Given the description of an element on the screen output the (x, y) to click on. 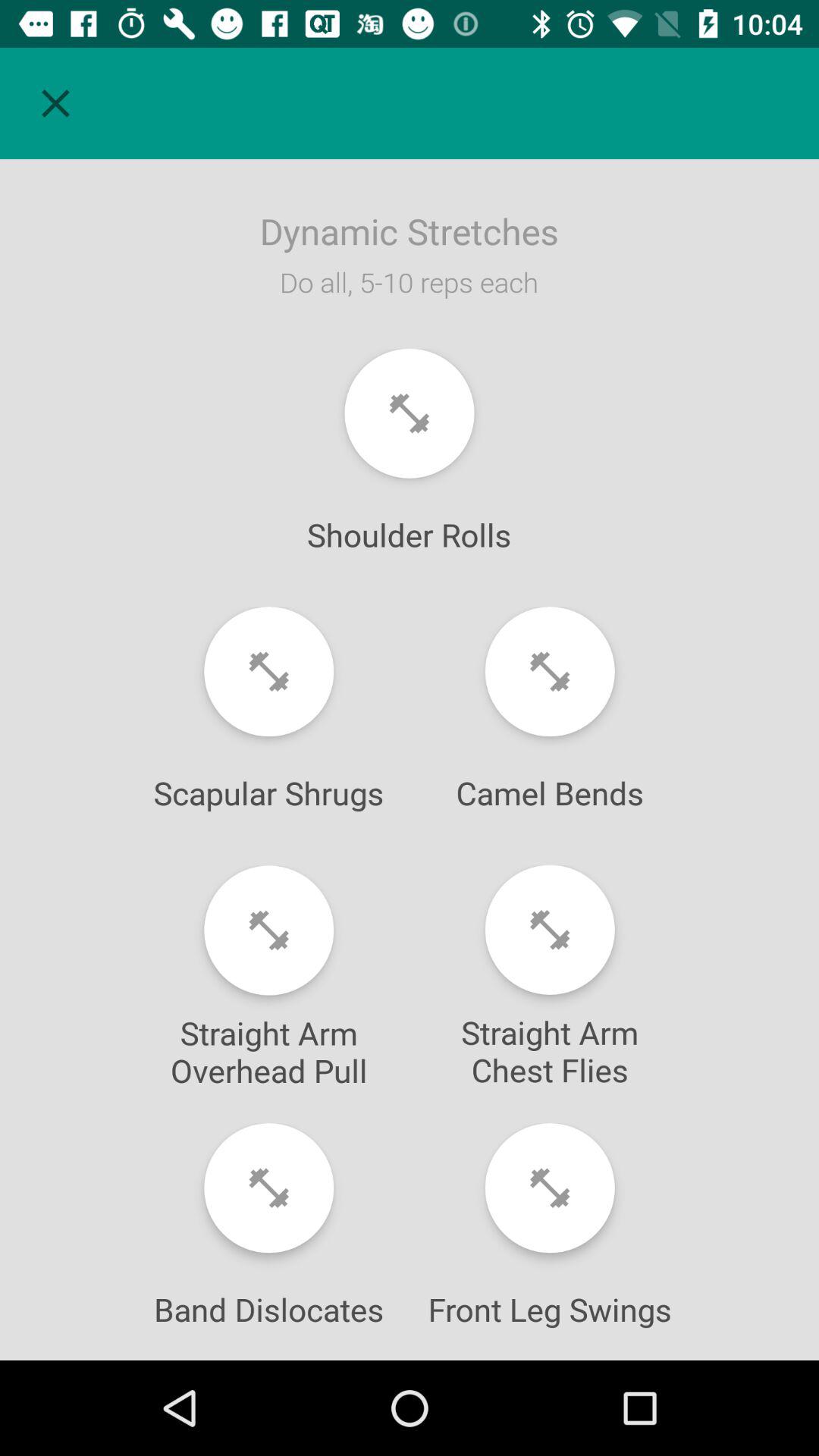
straight arm overhead pull exercise button (268, 930)
